Given the description of an element on the screen output the (x, y) to click on. 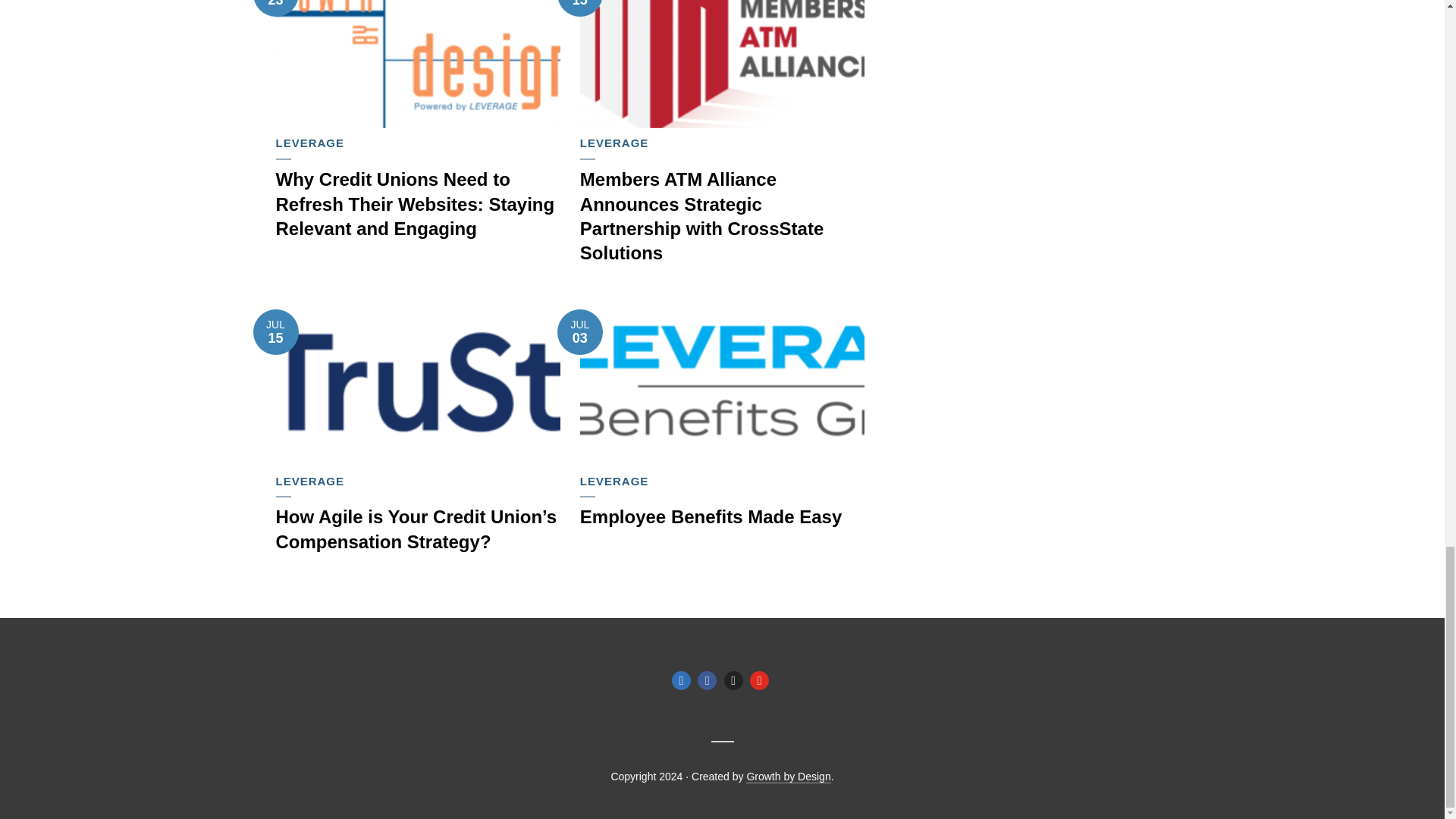
Linkedin (680, 680)
Facebook (706, 680)
YouTube (758, 680)
